Given the description of an element on the screen output the (x, y) to click on. 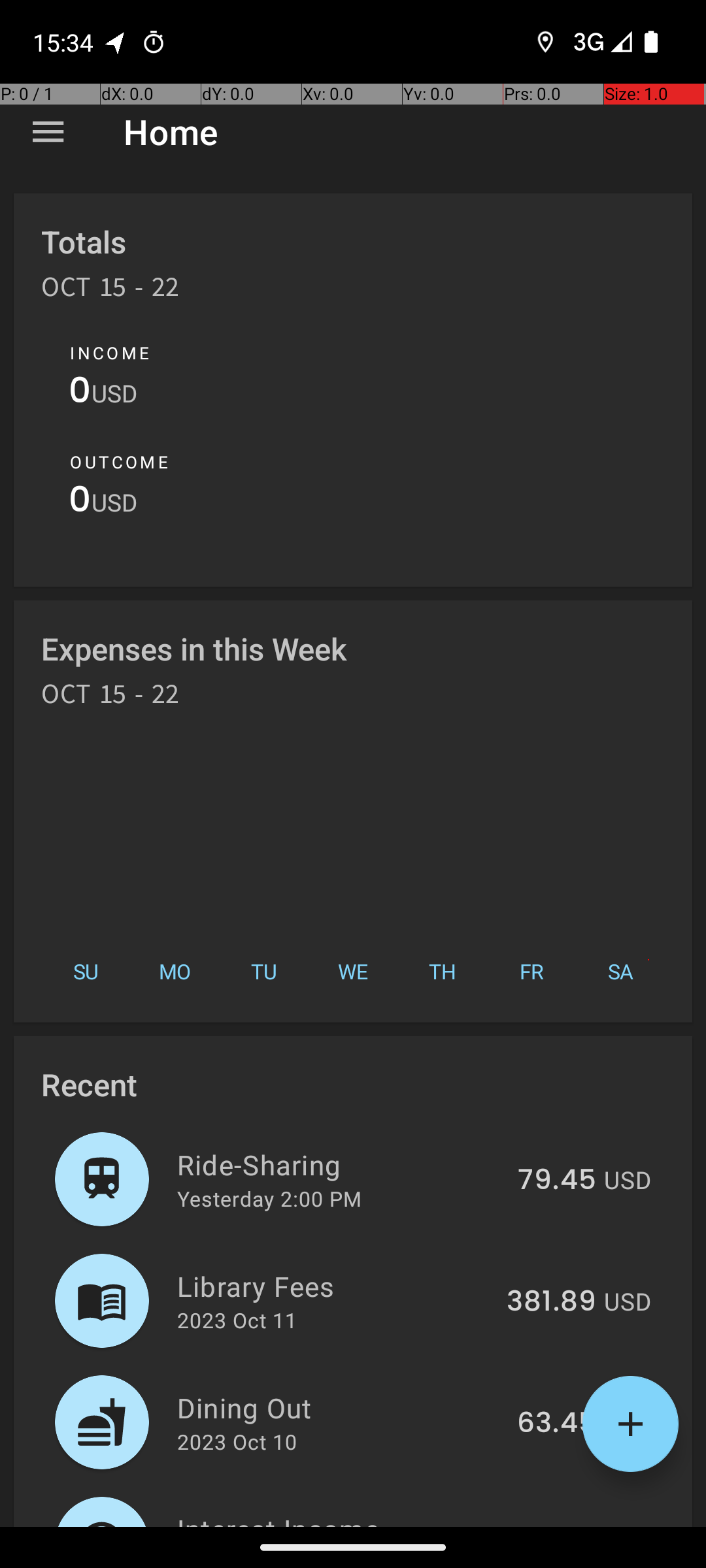
Yesterday 2:00 PM Element type: android.widget.TextView (269, 1198)
79.45 Element type: android.widget.TextView (556, 1180)
381.89 Element type: android.widget.TextView (550, 1301)
Dining Out Element type: android.widget.TextView (339, 1407)
63.45 Element type: android.widget.TextView (556, 1423)
368.86 Element type: android.widget.TextView (547, 1524)
